Given the description of an element on the screen output the (x, y) to click on. 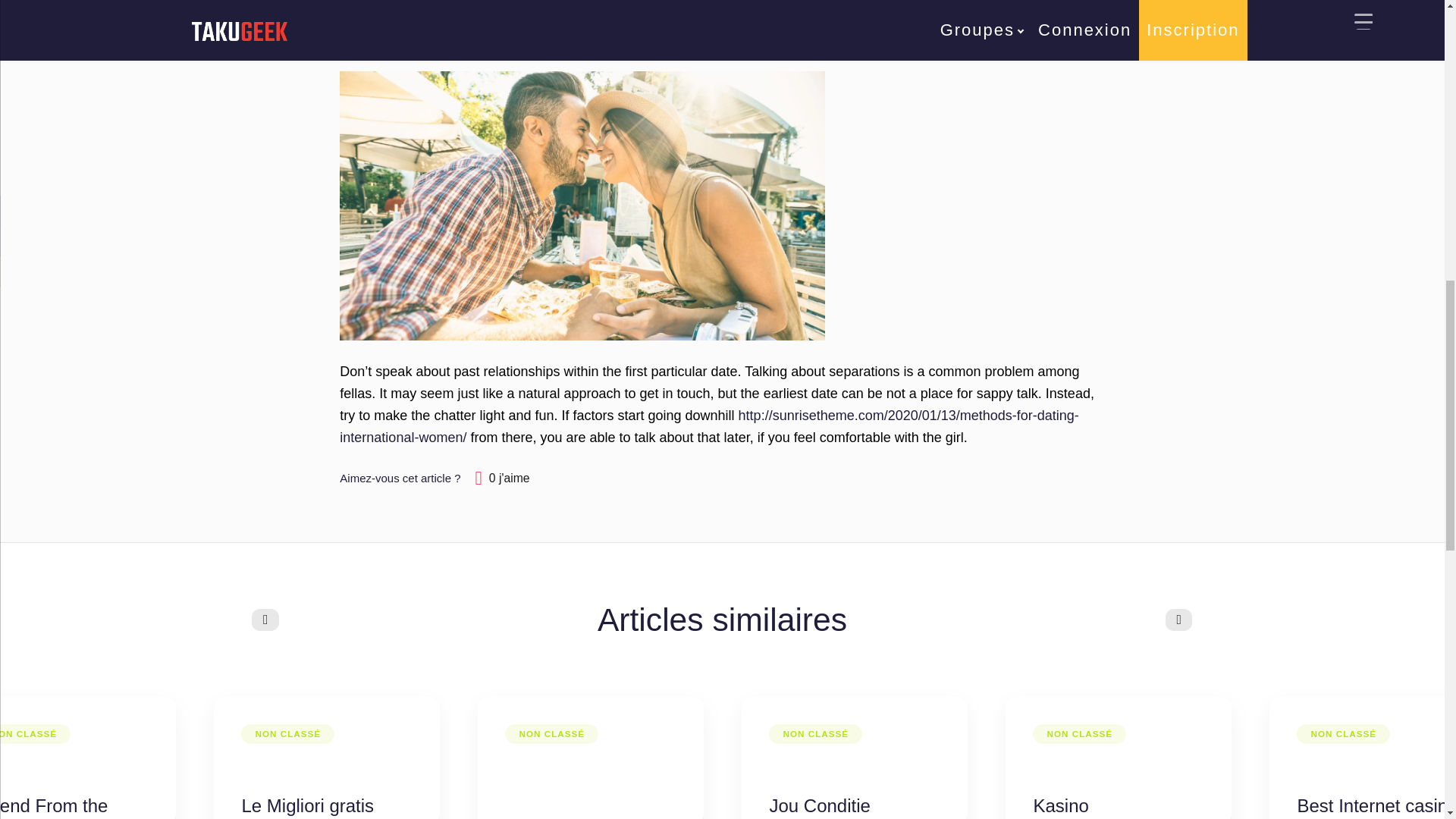
Like this (502, 478)
